Given the description of an element on the screen output the (x, y) to click on. 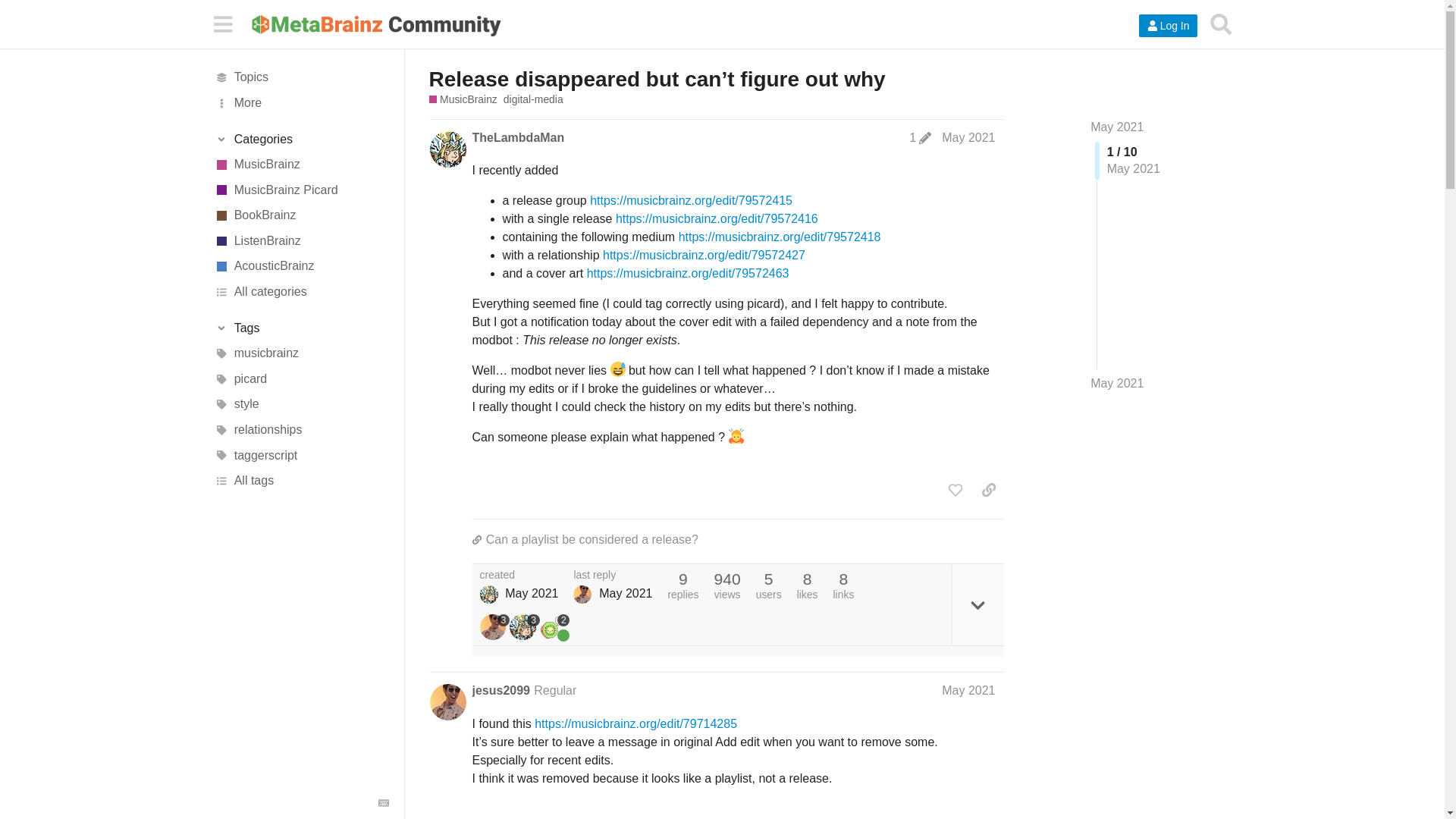
All topics (301, 77)
MusicBrainz (301, 164)
musicbrainz (301, 353)
AcousticBrainz (301, 266)
taggerscript (301, 455)
Search (1220, 23)
MusicBrainz Picard (301, 190)
ListenBrainz (301, 240)
picard (301, 379)
All tags (301, 481)
All categories (301, 291)
Log In (1168, 25)
relationships (301, 429)
style (301, 404)
